Given the description of an element on the screen output the (x, y) to click on. 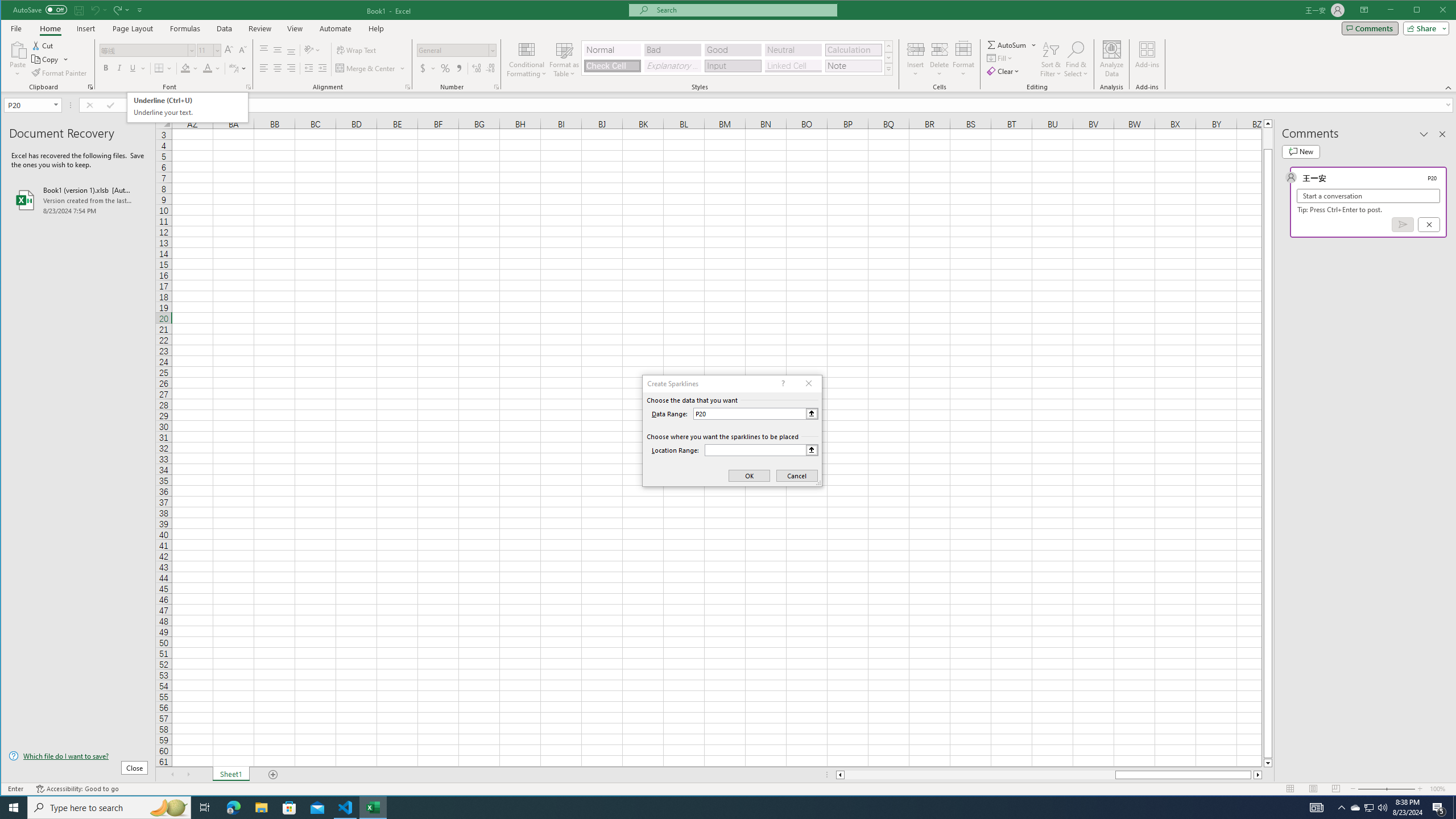
Copy (45, 59)
Align Left (263, 68)
Decrease Font Size (241, 49)
Top Align (263, 49)
Underline (132, 68)
Format Cell Font (248, 86)
